Given the description of an element on the screen output the (x, y) to click on. 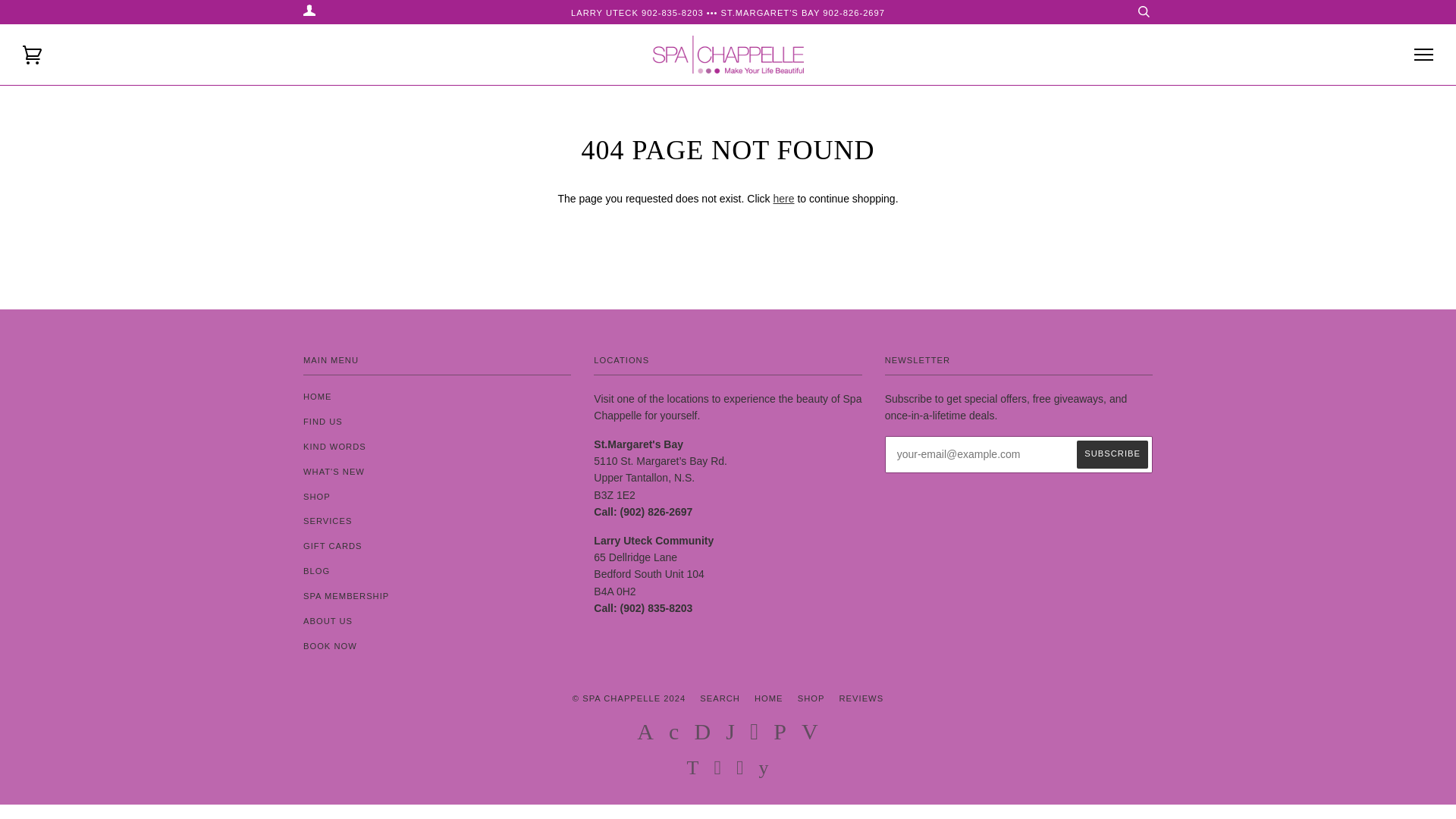
Spa Chappelle on Instagram (740, 770)
Spa Chappelle on Facebook (717, 770)
Spa Chappelle on Youtube (764, 770)
SHOP (316, 496)
GIFT CARDS (332, 545)
HOME (316, 396)
SERVICES (327, 520)
WHAT'S NEW (333, 470)
here (783, 198)
FIND US (322, 420)
Spa Chappelle on Twitter (691, 770)
KIND WORDS (334, 446)
Subscribe (1112, 454)
